Given the description of an element on the screen output the (x, y) to click on. 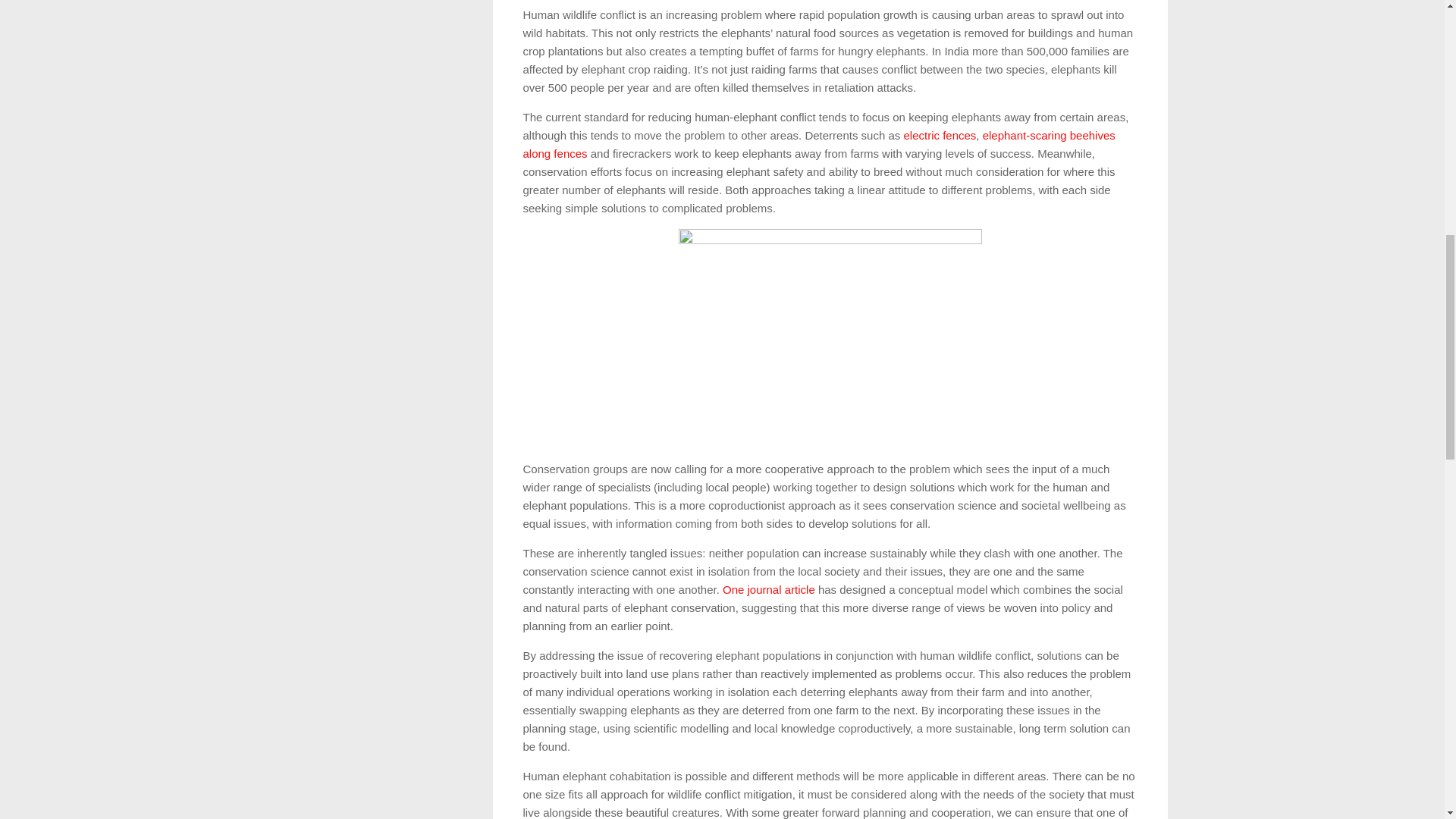
elephant-scaring beehives along fences (818, 143)
electric fences (938, 134)
One journal article (770, 588)
